Given the description of an element on the screen output the (x, y) to click on. 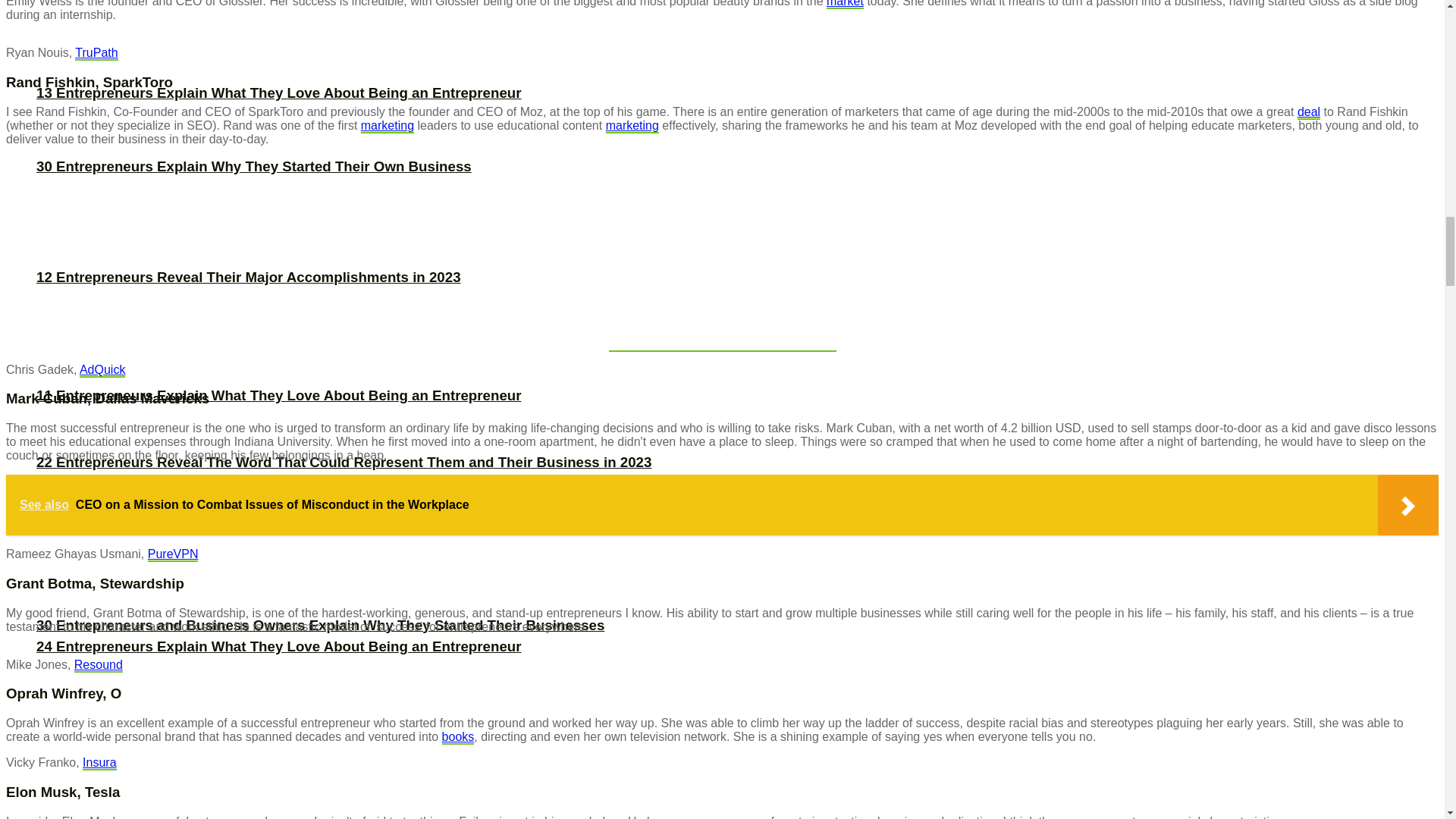
12 Entrepreneurs Reveal Their Major Accomplishments in 2023 (248, 277)
CEO Hacks - Sales (632, 125)
CEO Hacks - Books (458, 737)
CEO Hacks - Sales (387, 125)
CEO Hacks - Sales (1308, 112)
